Given the description of an element on the screen output the (x, y) to click on. 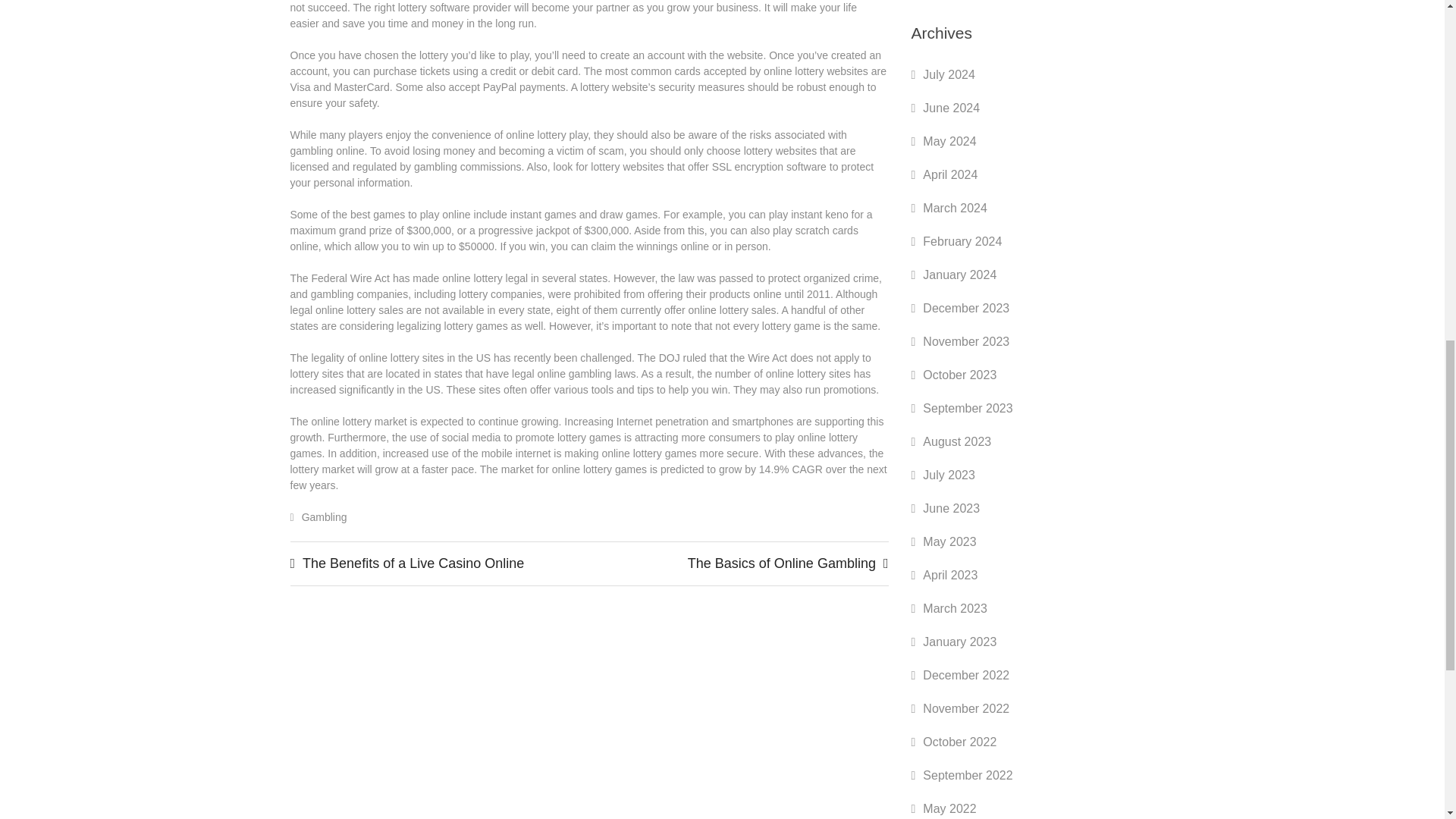
January 2024 (959, 274)
September 2023 (967, 408)
Gambling (324, 517)
October 2023 (959, 374)
December 2022 (966, 675)
July 2023 (949, 474)
January 2023 (959, 641)
April 2024 (949, 174)
March 2024 (955, 207)
February 2024 (962, 241)
The Basics of Online Gambling (781, 563)
November 2023 (966, 341)
November 2022 (966, 707)
May 2023 (949, 541)
September 2022 (967, 775)
